Given the description of an element on the screen output the (x, y) to click on. 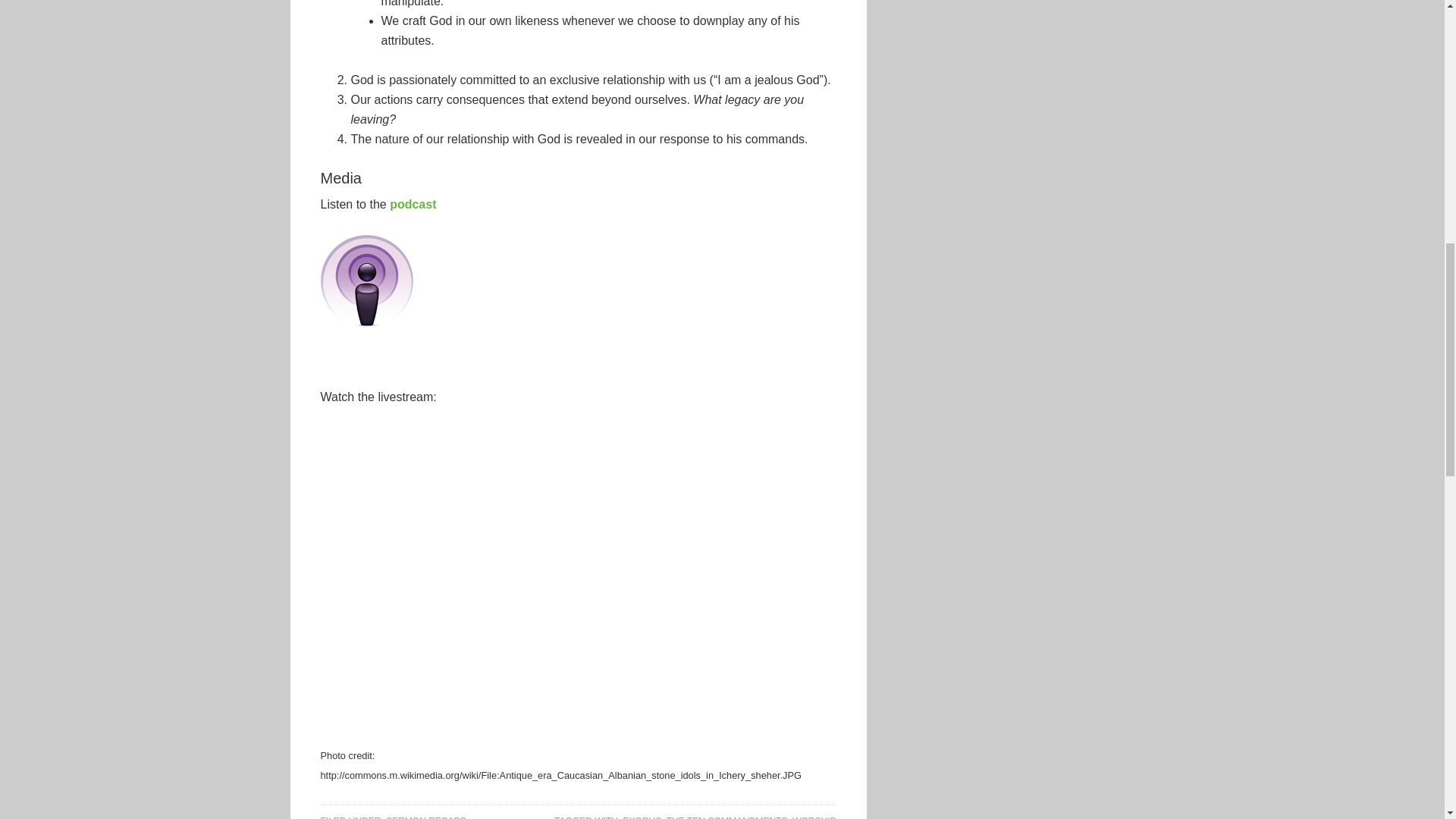
SERMON RECAPS (425, 817)
WORSHIP (813, 817)
THE TEN COMMANDMENTS (726, 817)
podcast (412, 204)
EXODUS (642, 817)
